Given the description of an element on the screen output the (x, y) to click on. 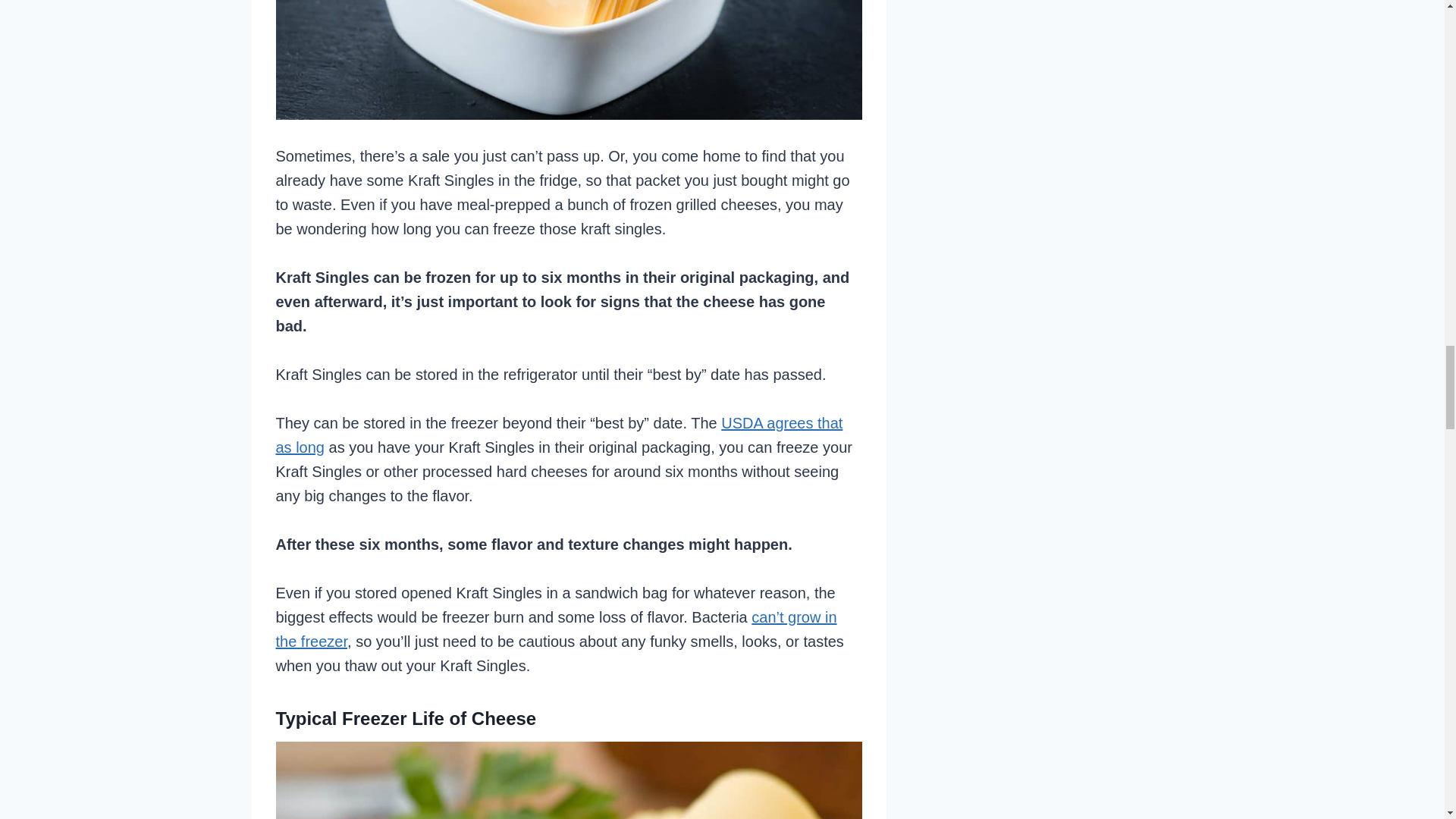
USDA agrees that as long (559, 434)
